Given the description of an element on the screen output the (x, y) to click on. 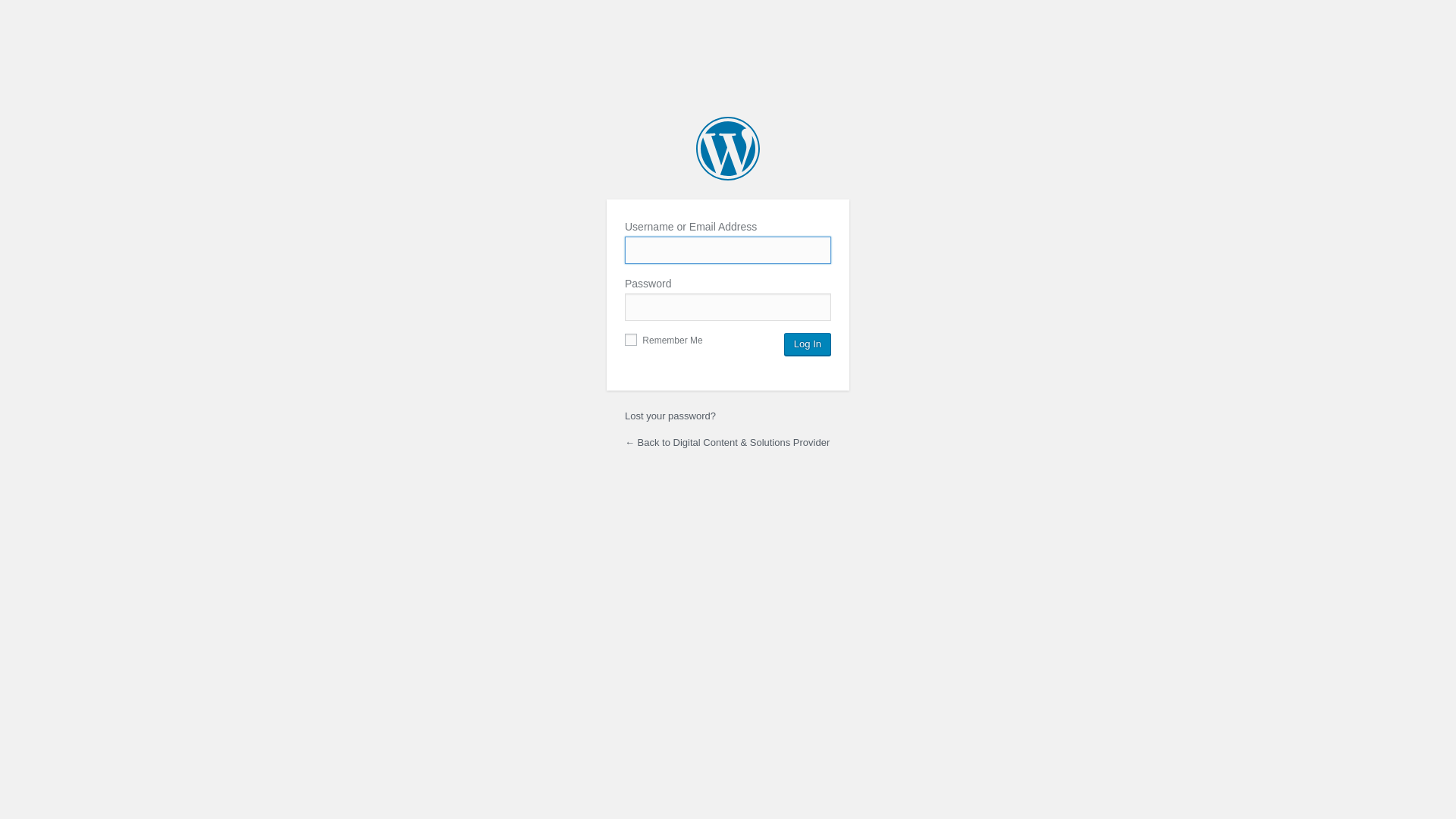
Lost your password? Element type: text (669, 415)
Digital Content & Solutions Provider Element type: text (727, 148)
Log In Element type: text (807, 343)
